Given the description of an element on the screen output the (x, y) to click on. 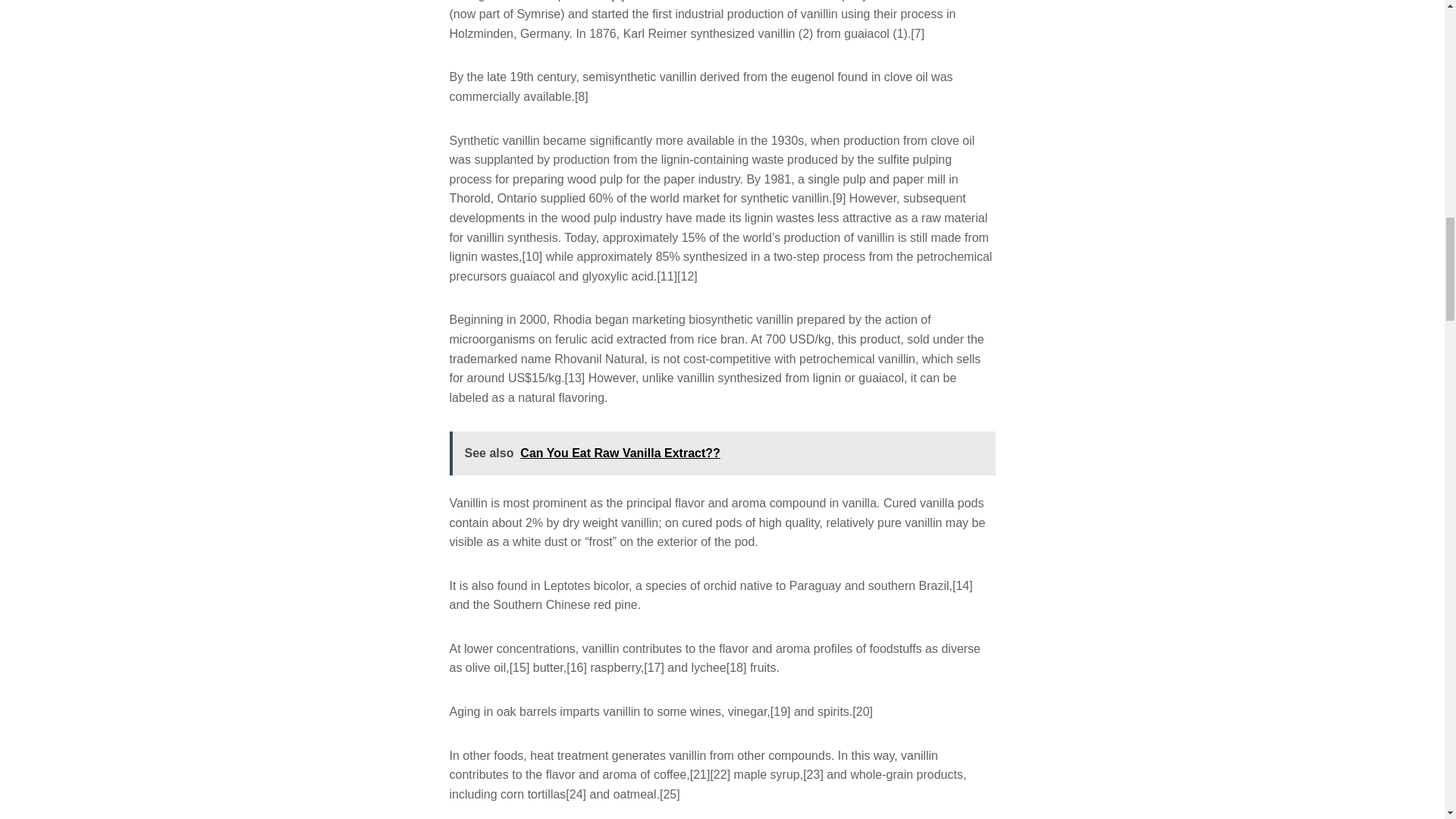
See also  Can You Eat Raw Vanilla Extract?? (721, 453)
